Given the description of an element on the screen output the (x, y) to click on. 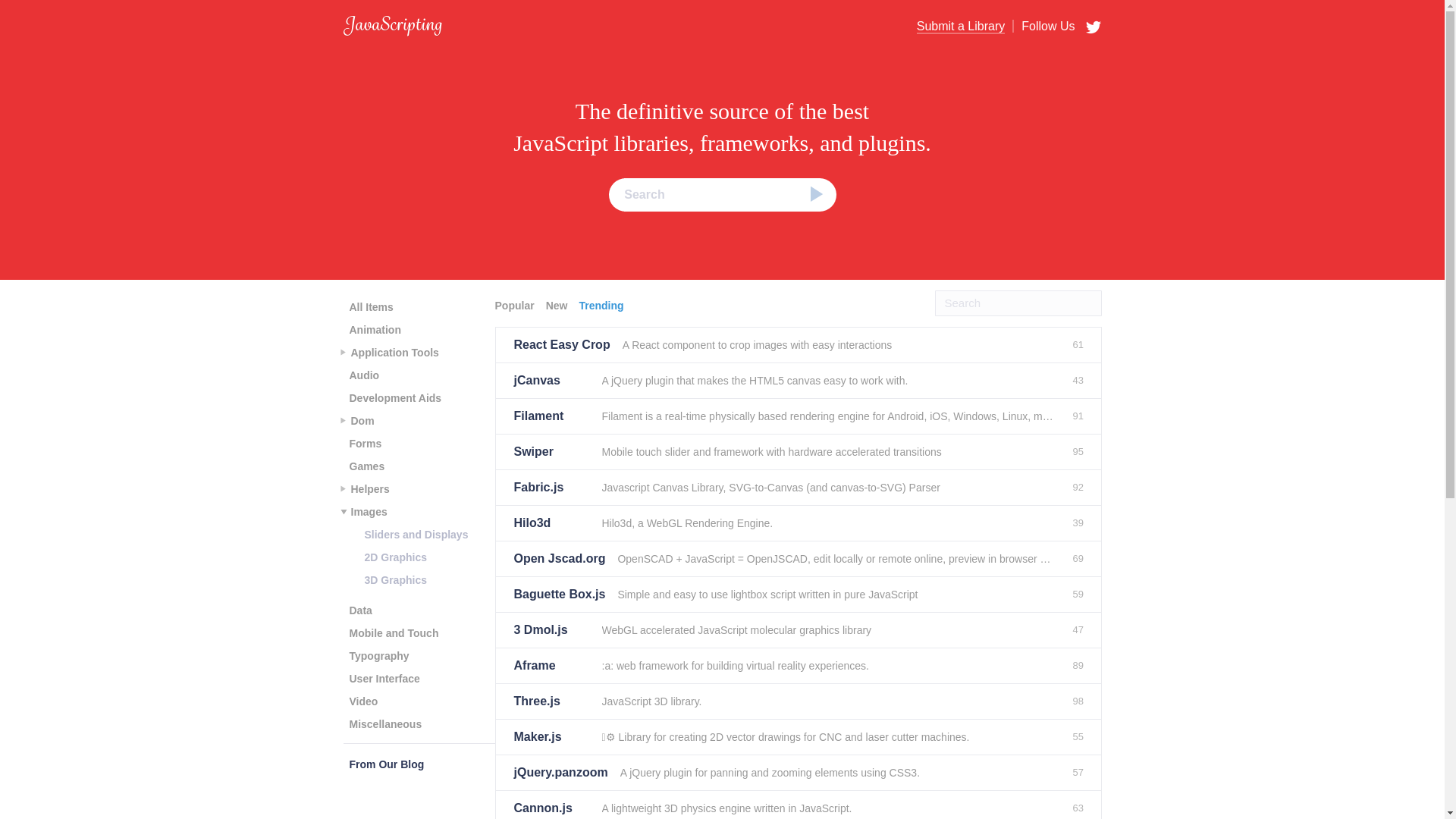
2D Graphics (395, 557)
Popular (516, 305)
Development Aids (394, 397)
Trending (602, 305)
Hilo3d (551, 523)
New (559, 305)
Video (363, 701)
Animation (374, 329)
All Items (370, 306)
Typography (378, 655)
jCanvas (551, 380)
Submit a Library (961, 26)
Data (359, 609)
Sliders and Displays (416, 534)
Forms (364, 443)
